Given the description of an element on the screen output the (x, y) to click on. 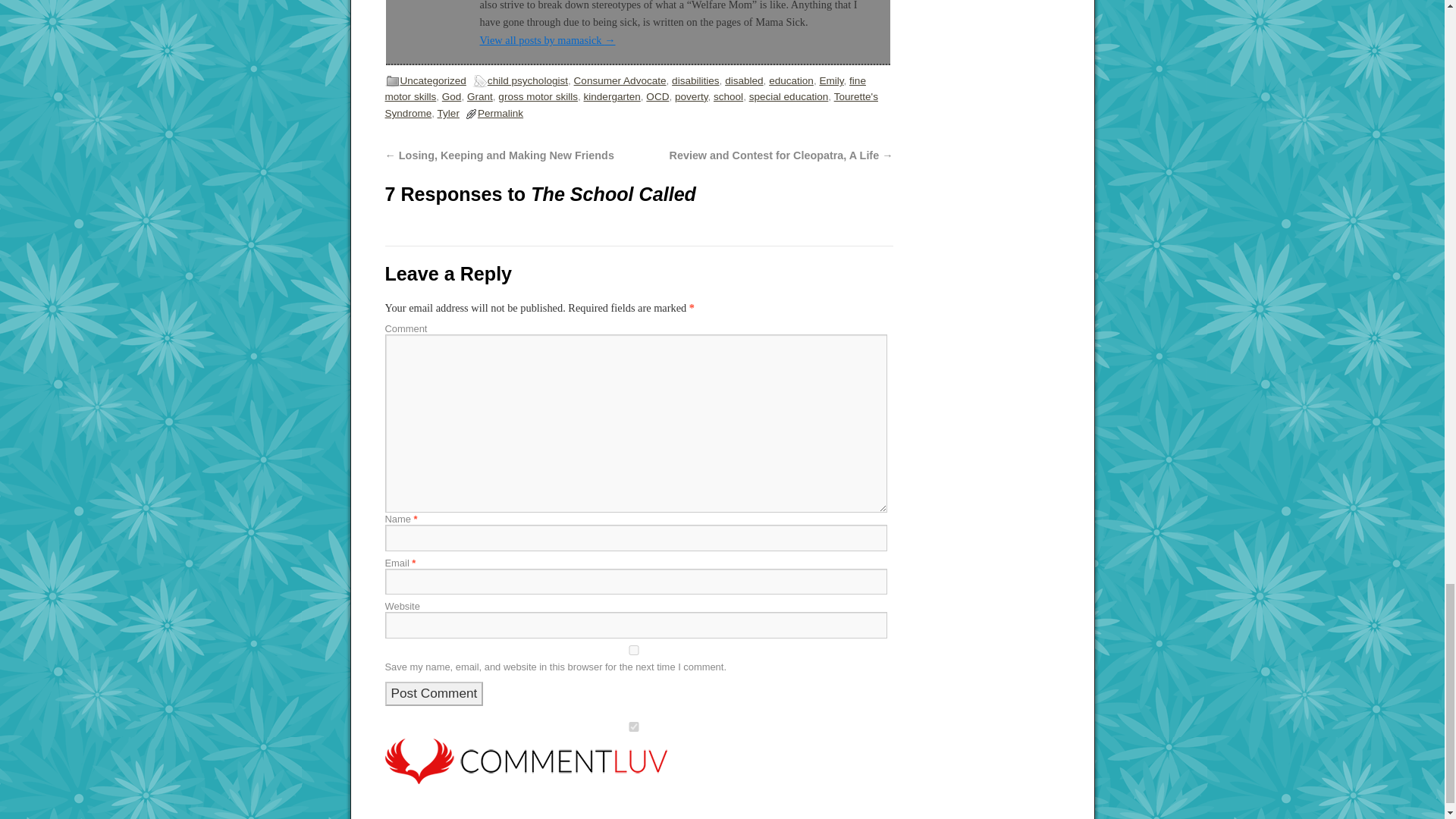
Post Comment (434, 693)
Consumer Advocate (619, 80)
yes (634, 650)
Tyler (449, 112)
disabled (743, 80)
Uncategorized (432, 80)
gross motor skills (537, 96)
education (790, 80)
on (634, 726)
Permalink to The School Called (499, 112)
